Given the description of an element on the screen output the (x, y) to click on. 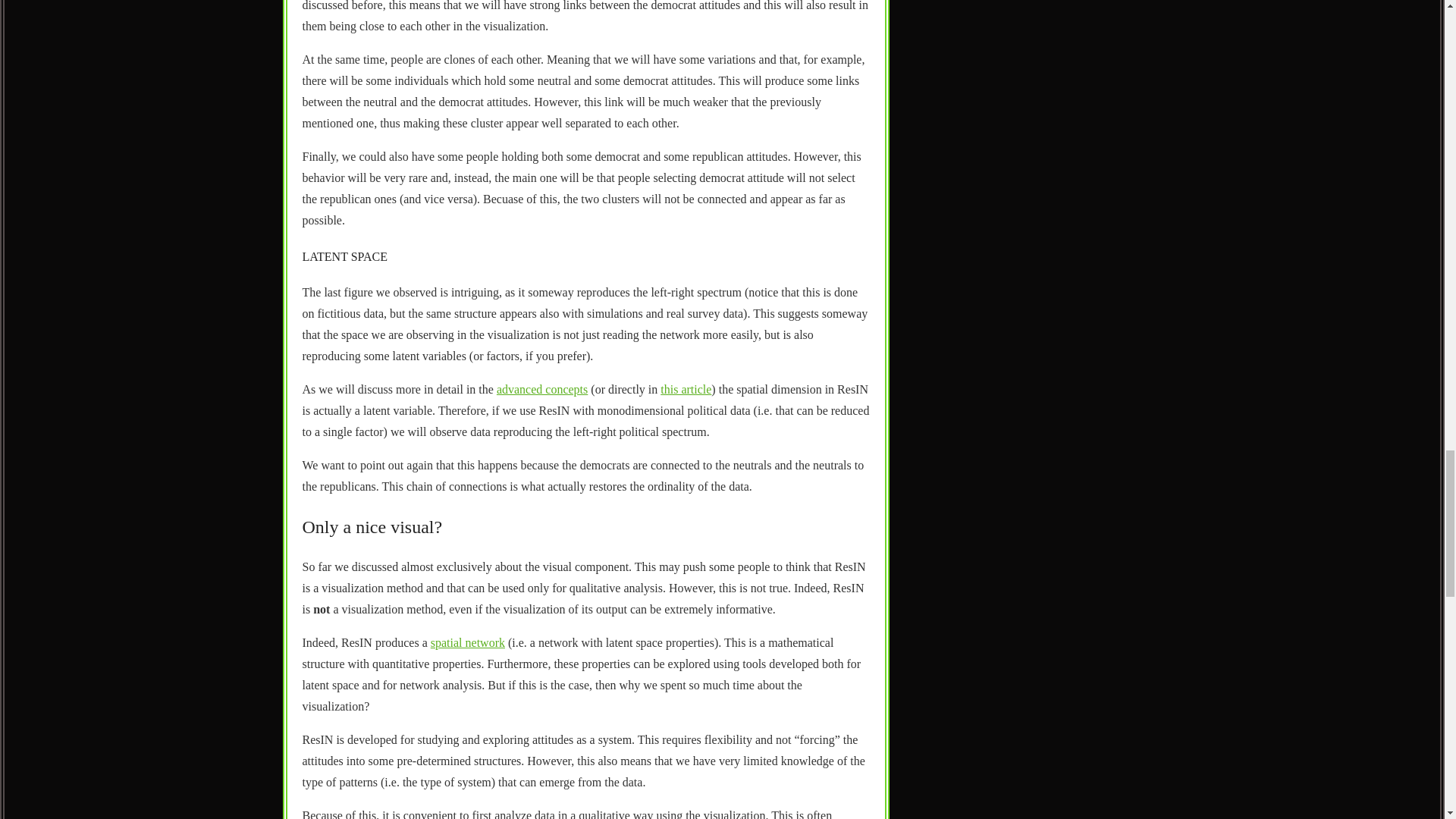
this article (686, 389)
spatial network (467, 642)
advanced concepts (542, 389)
